Given the description of an element on the screen output the (x, y) to click on. 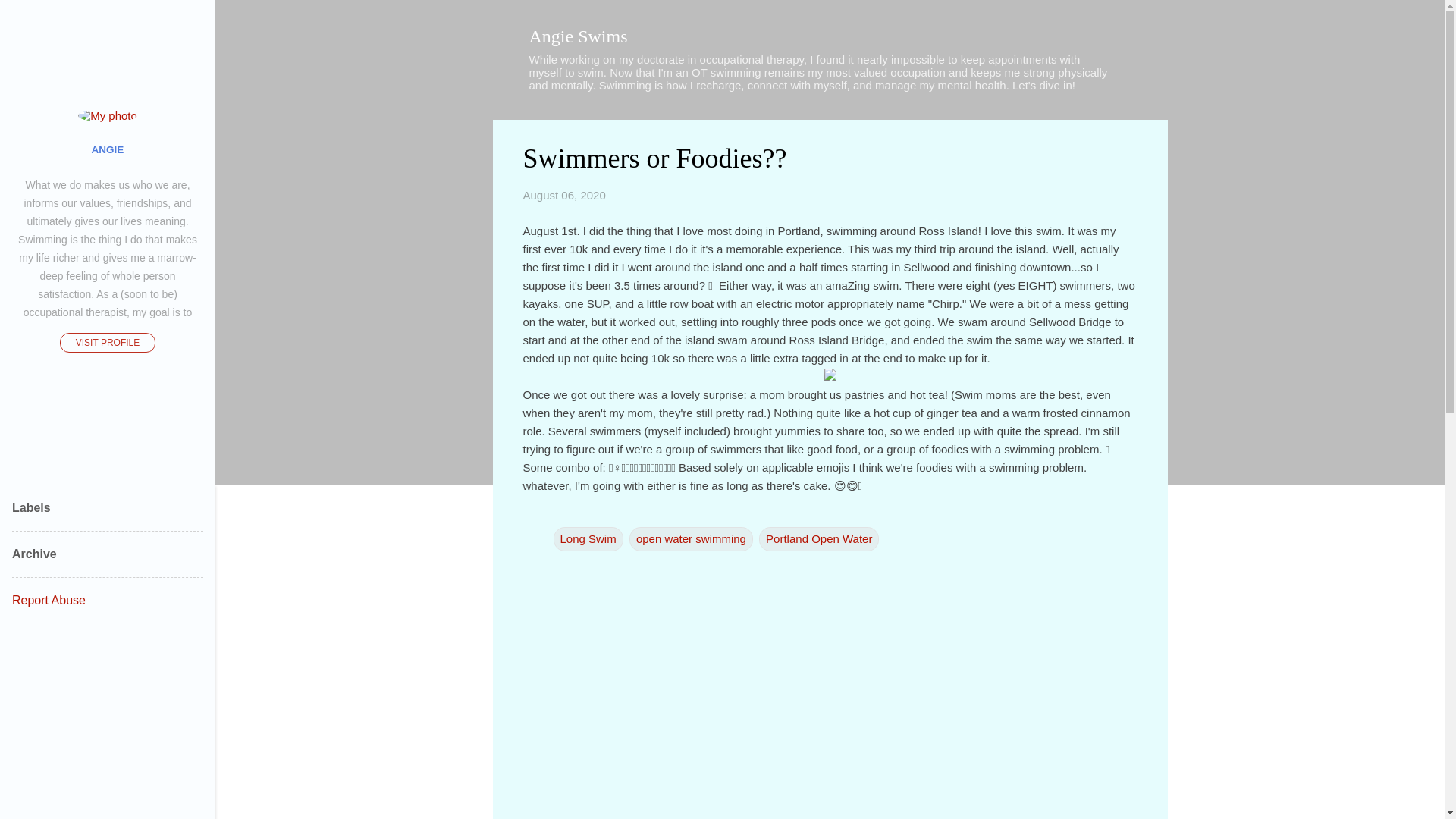
Portland Open Water (818, 538)
Angie Swims (578, 35)
permanent link (563, 195)
ANGIE (107, 149)
open water swimming (690, 538)
August 06, 2020 (563, 195)
VISIT PROFILE (107, 342)
Search (29, 18)
Long Swim (588, 538)
